Given the description of an element on the screen output the (x, y) to click on. 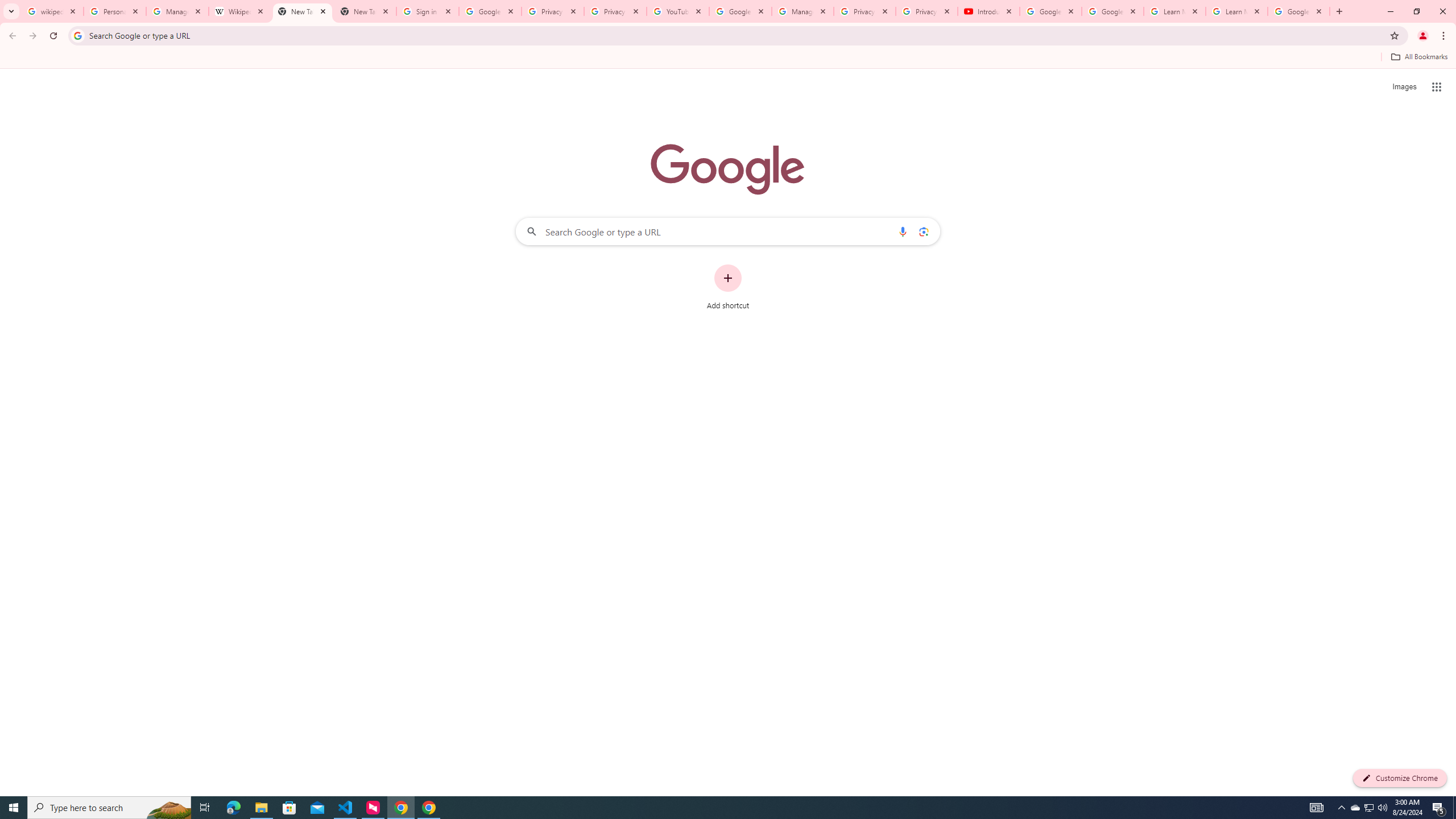
Google apps (1436, 86)
Manage your Location History - Google Search Help (177, 11)
Wikipedia:Edit requests - Wikipedia (239, 11)
Search icon (77, 35)
Google Account Help (1050, 11)
Search by image (922, 230)
